Given the description of an element on the screen output the (x, y) to click on. 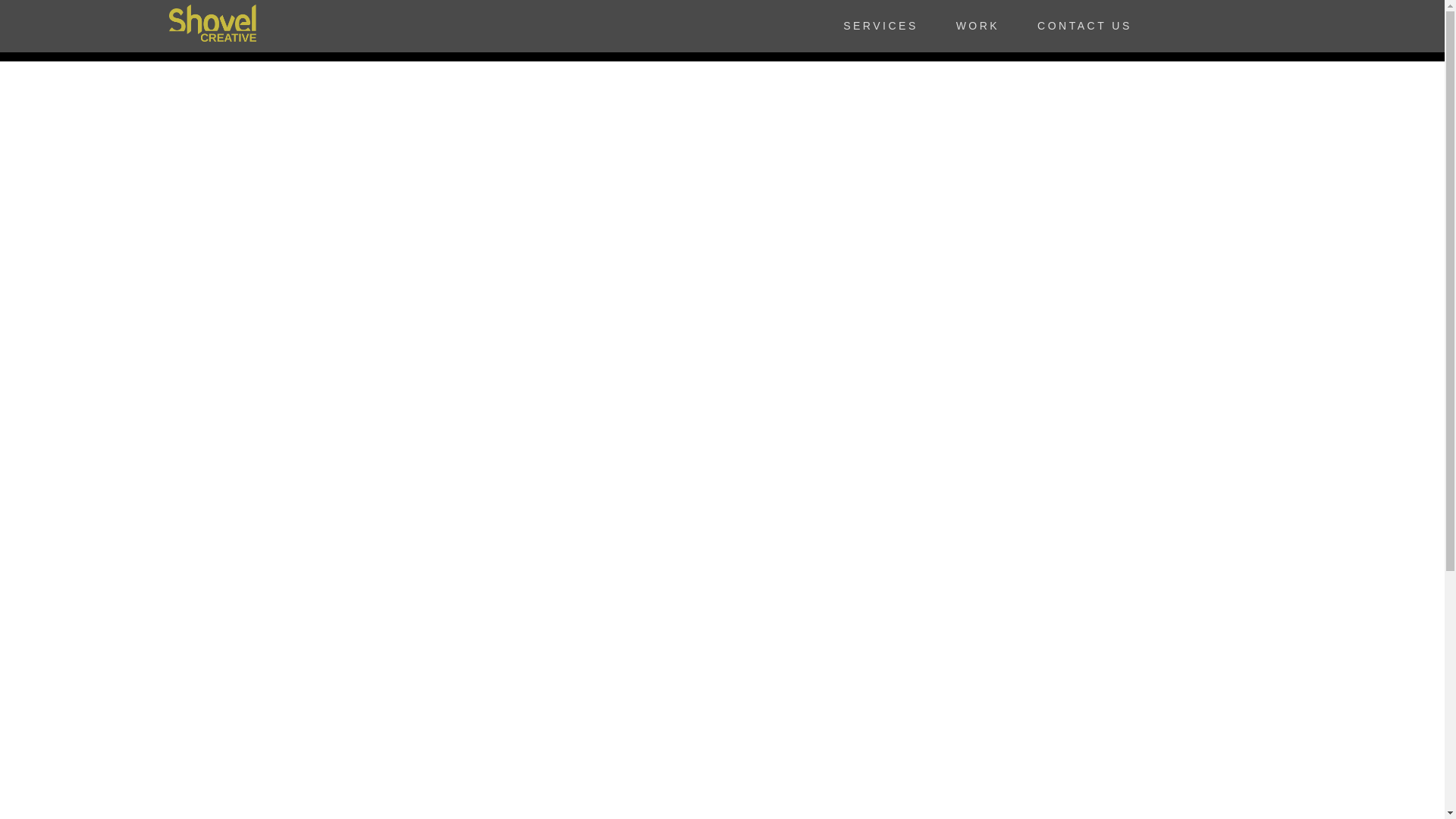
WORK (978, 26)
SERVICES (880, 26)
CONTACT US (1084, 26)
